Given the description of an element on the screen output the (x, y) to click on. 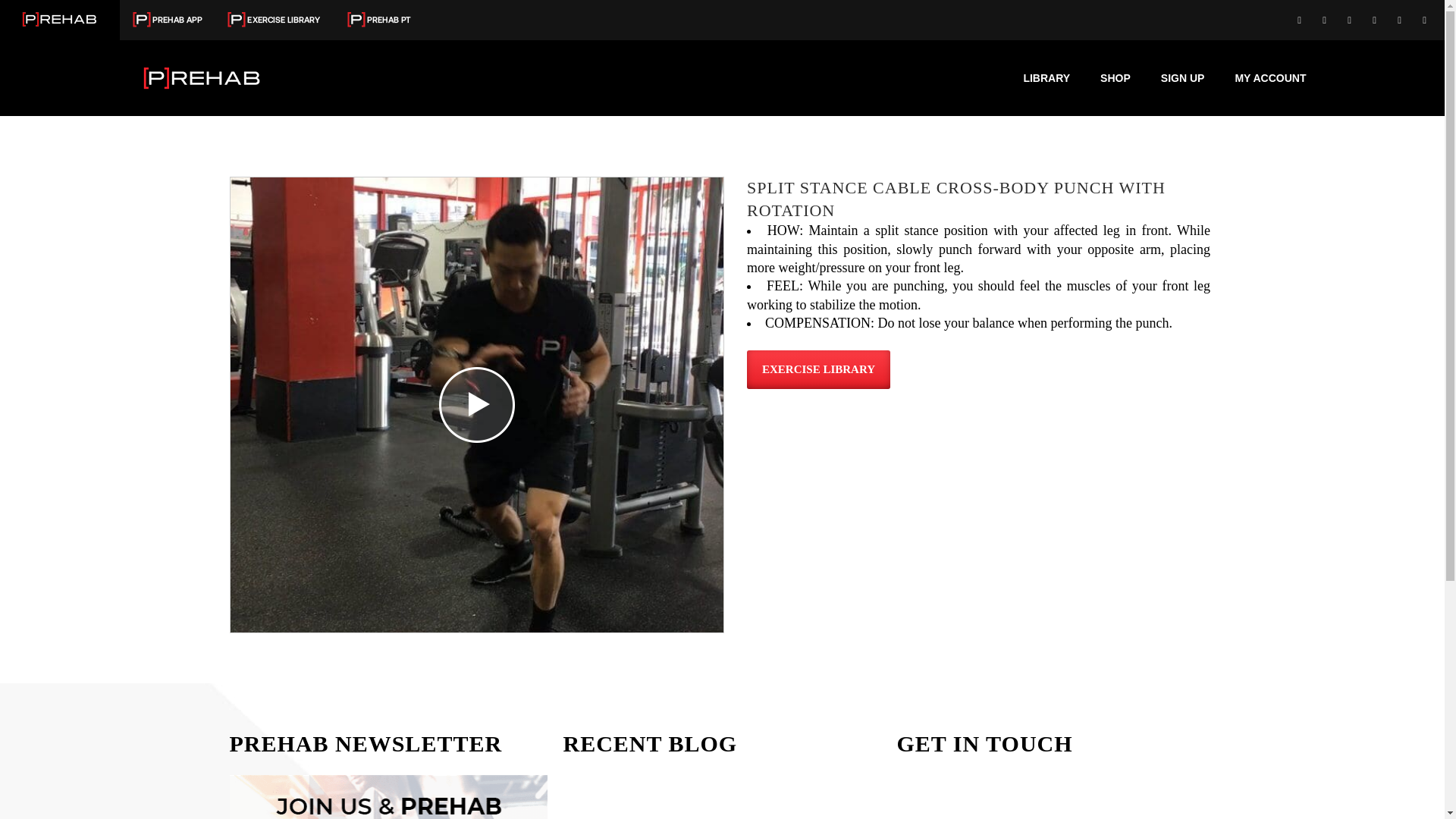
Form 0 (1055, 796)
